Given the description of an element on the screen output the (x, y) to click on. 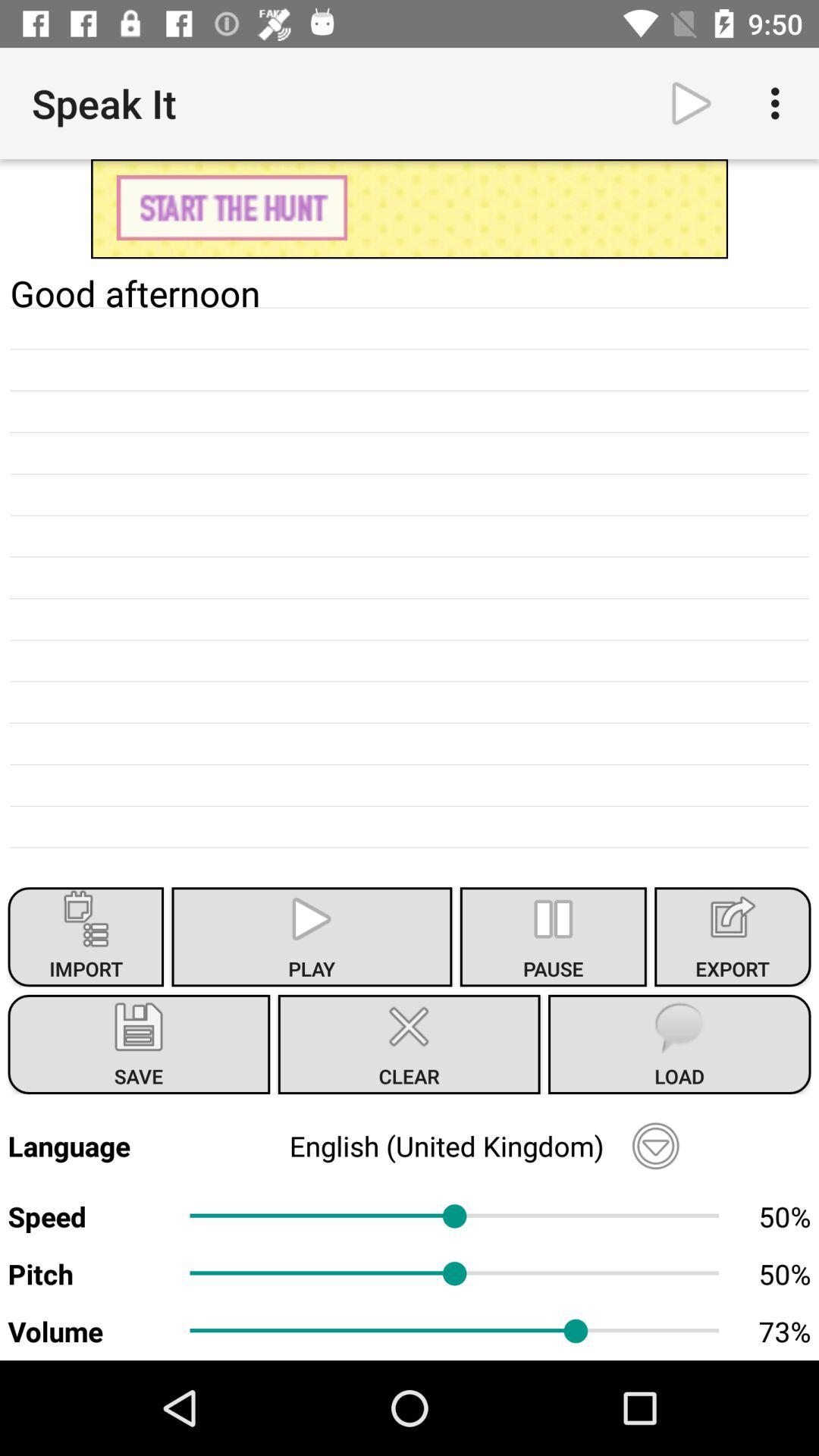
visit advertisement (409, 208)
